Given the description of an element on the screen output the (x, y) to click on. 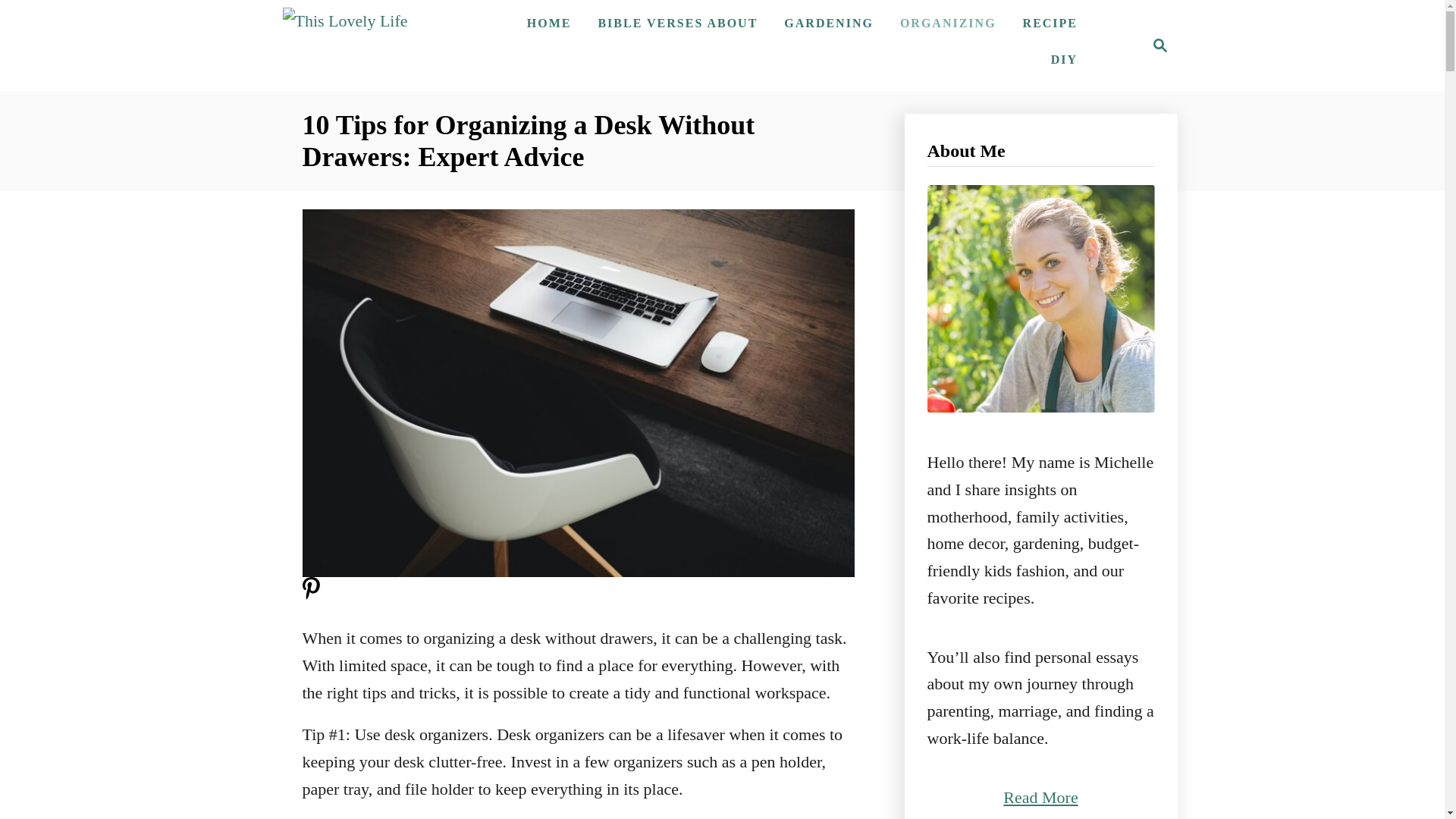
Read More (1040, 796)
RECIPE (1049, 23)
GARDENING (828, 23)
This Lovely Life (344, 20)
ORGANIZING (1155, 45)
Magnifying Glass (948, 23)
DIY (1160, 45)
BIBLE VERSES ABOUT (1063, 59)
HOME (677, 23)
